Given the description of an element on the screen output the (x, y) to click on. 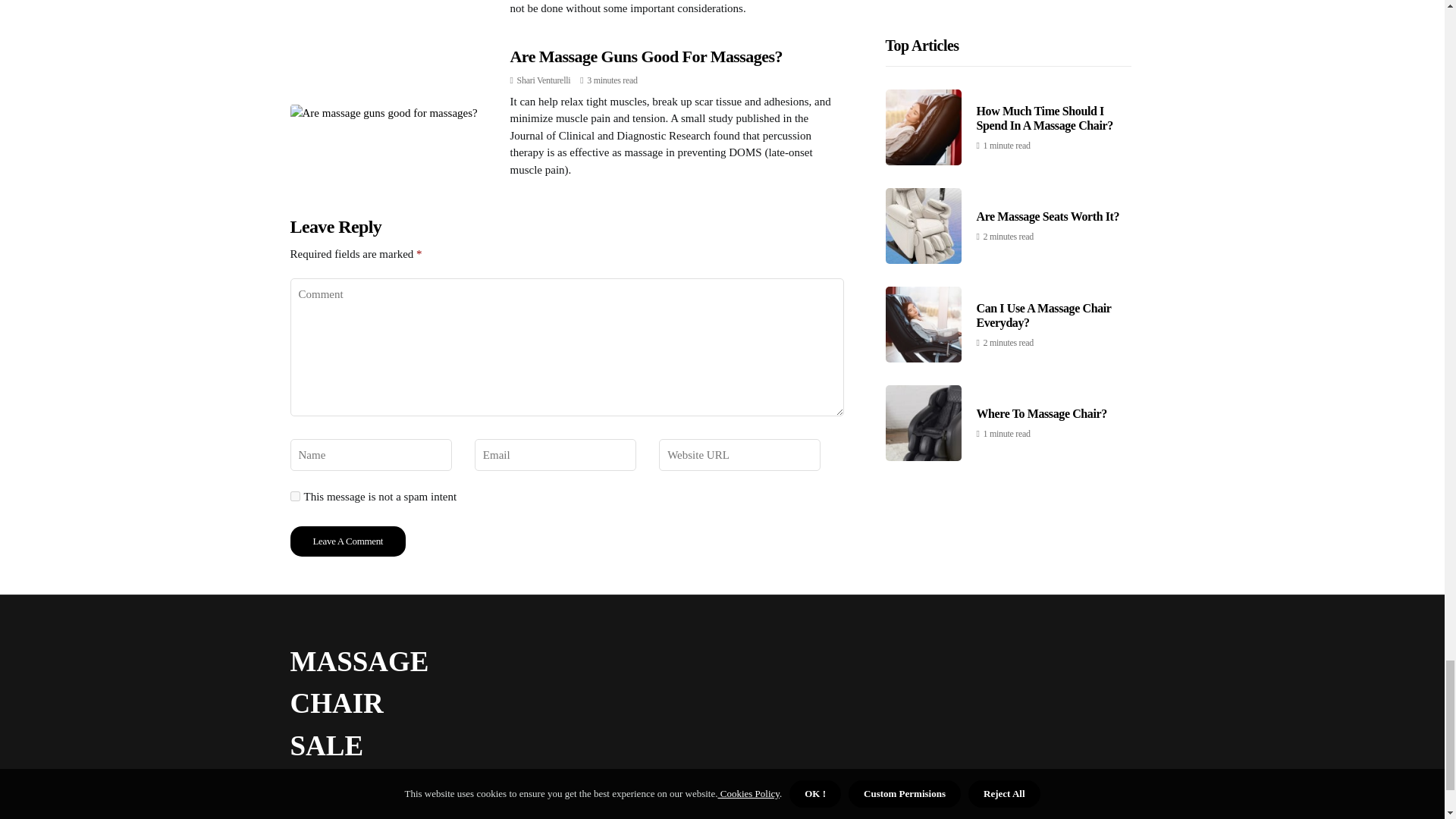
Leave a Comment (347, 541)
Shari Venturelli (543, 79)
Are Massage Guns Good For Massages? (645, 56)
yes (294, 496)
Posts by Shari Venturelli (543, 79)
Leave a Comment (347, 541)
